Given the description of an element on the screen output the (x, y) to click on. 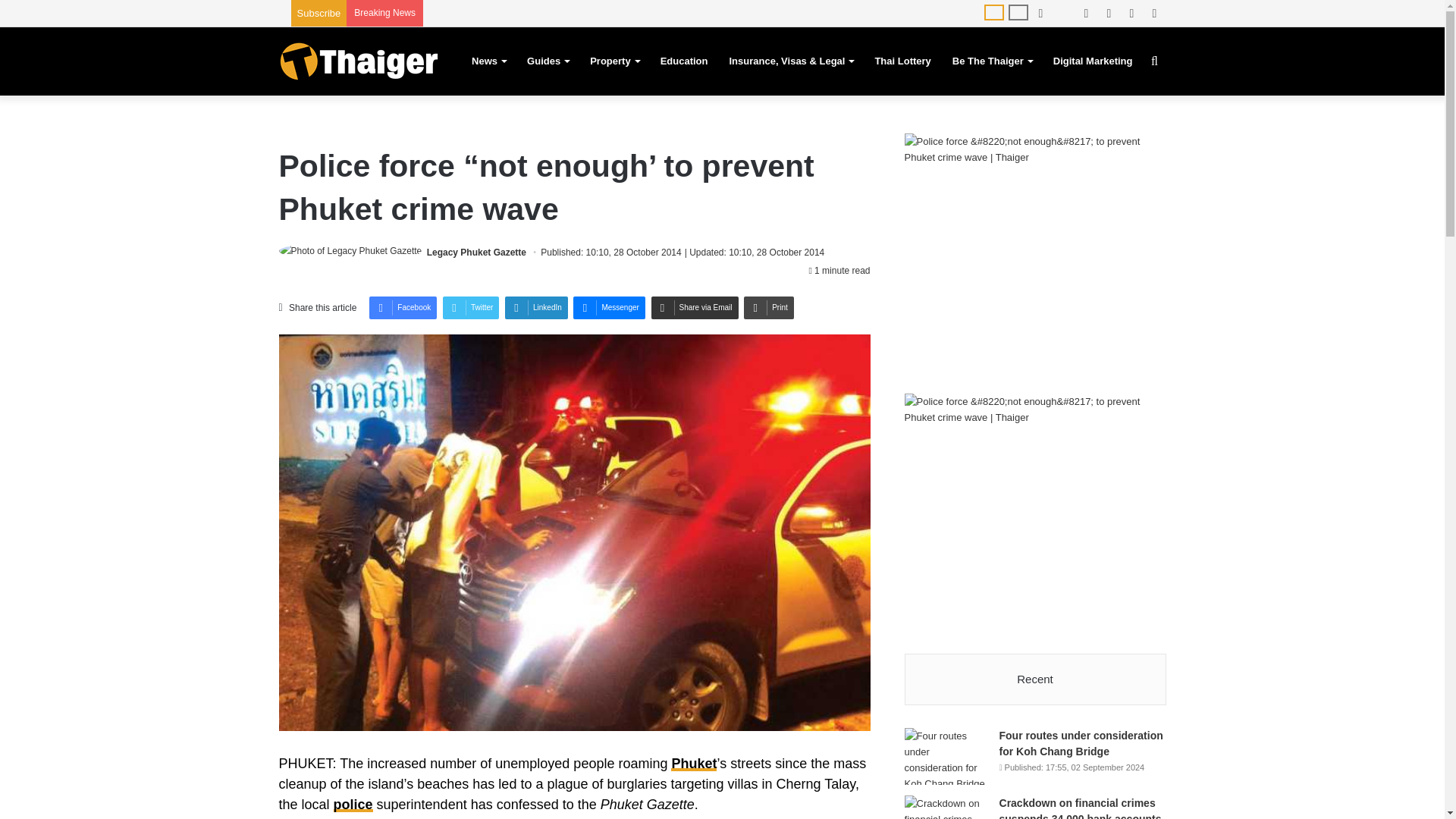
Share via Email (694, 307)
Twitter (470, 307)
Print (768, 307)
Phuket (693, 763)
Facebook (402, 307)
Subscribe (318, 12)
Messenger (609, 307)
LinkedIn (536, 307)
Crime (352, 804)
Thaiger (358, 60)
